Given the description of an element on the screen output the (x, y) to click on. 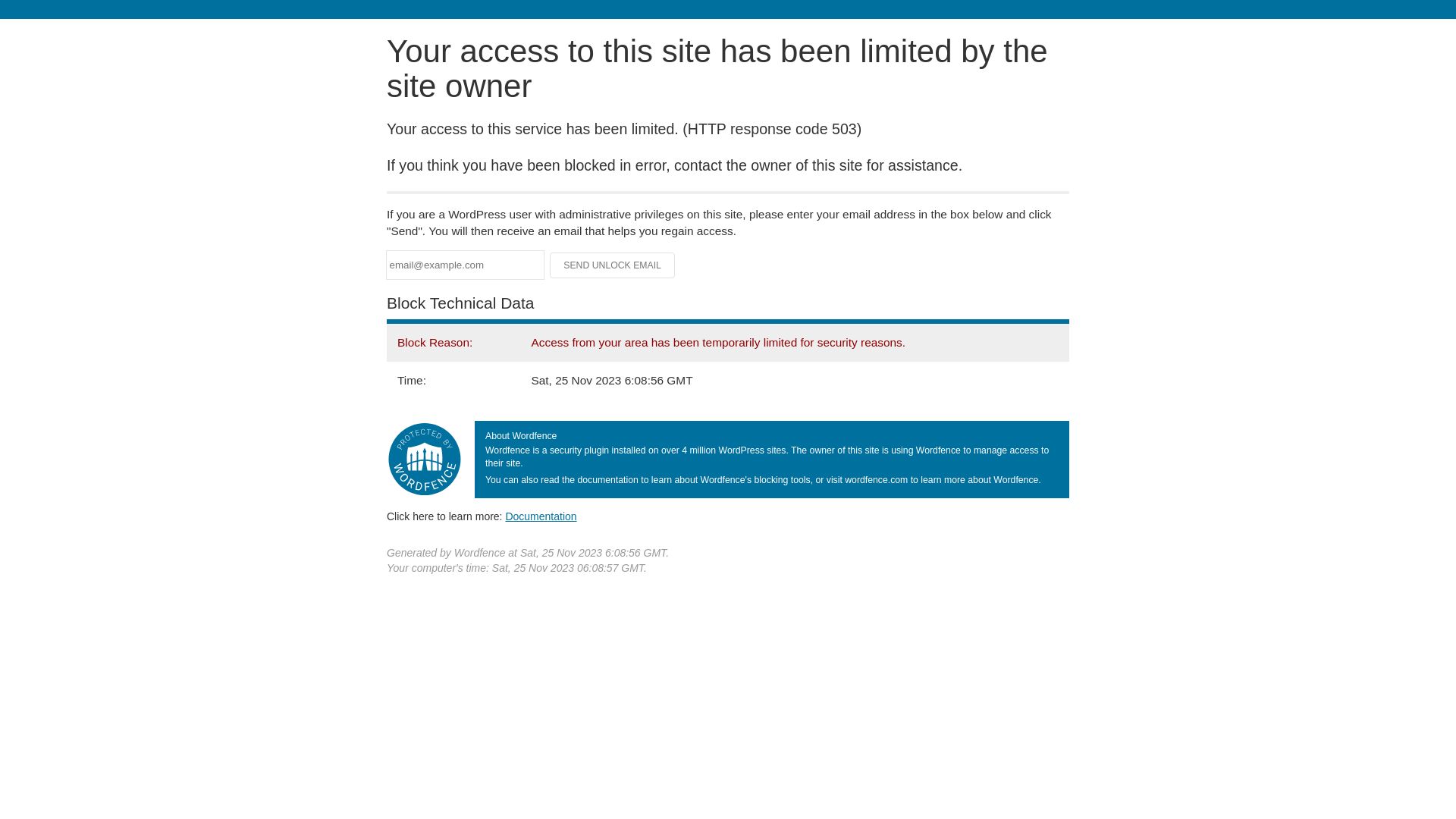
Send Unlock Email Element type: text (612, 265)
Documentation Element type: text (540, 516)
